Given the description of an element on the screen output the (x, y) to click on. 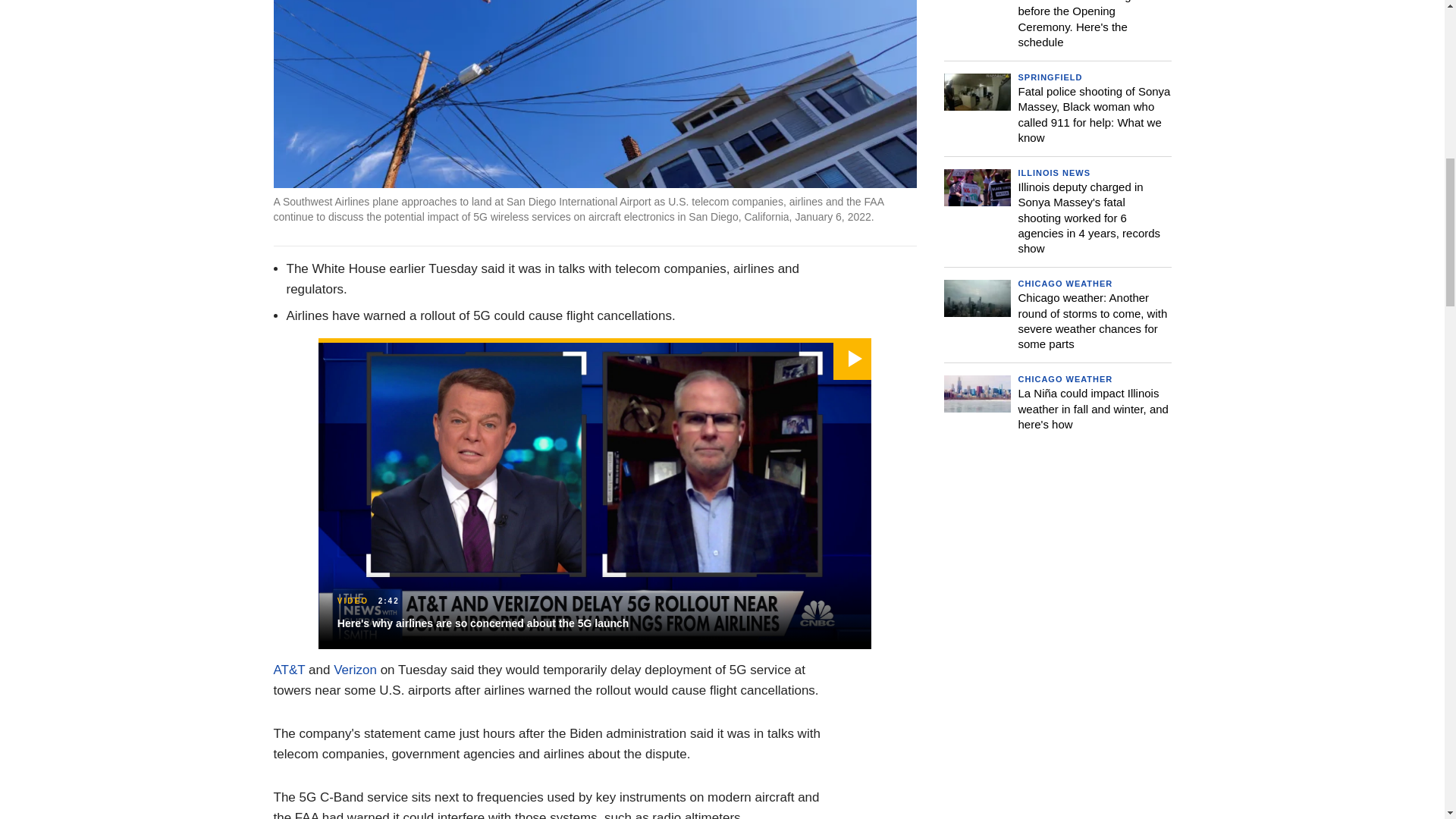
Verizon (355, 669)
